Given the description of an element on the screen output the (x, y) to click on. 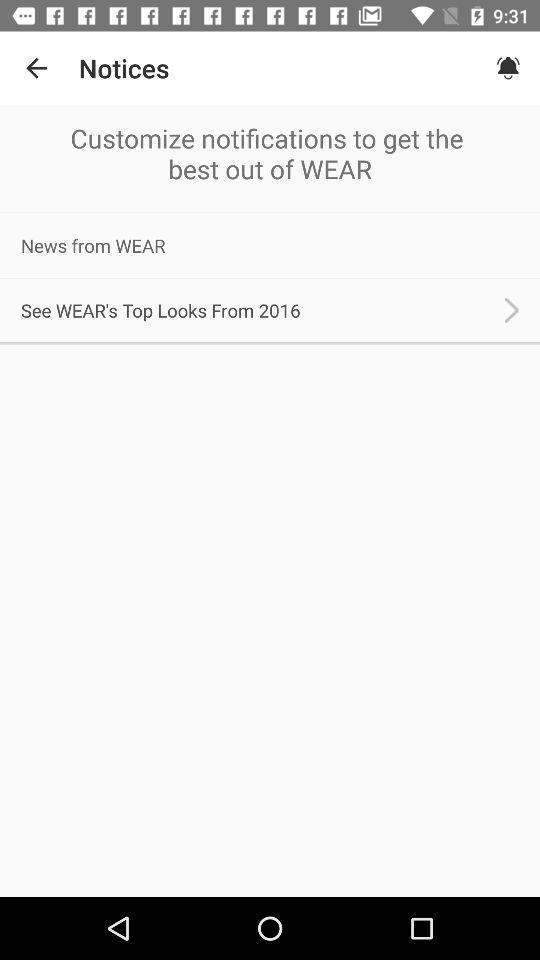
open the item to the left of the notices (36, 68)
